Given the description of an element on the screen output the (x, y) to click on. 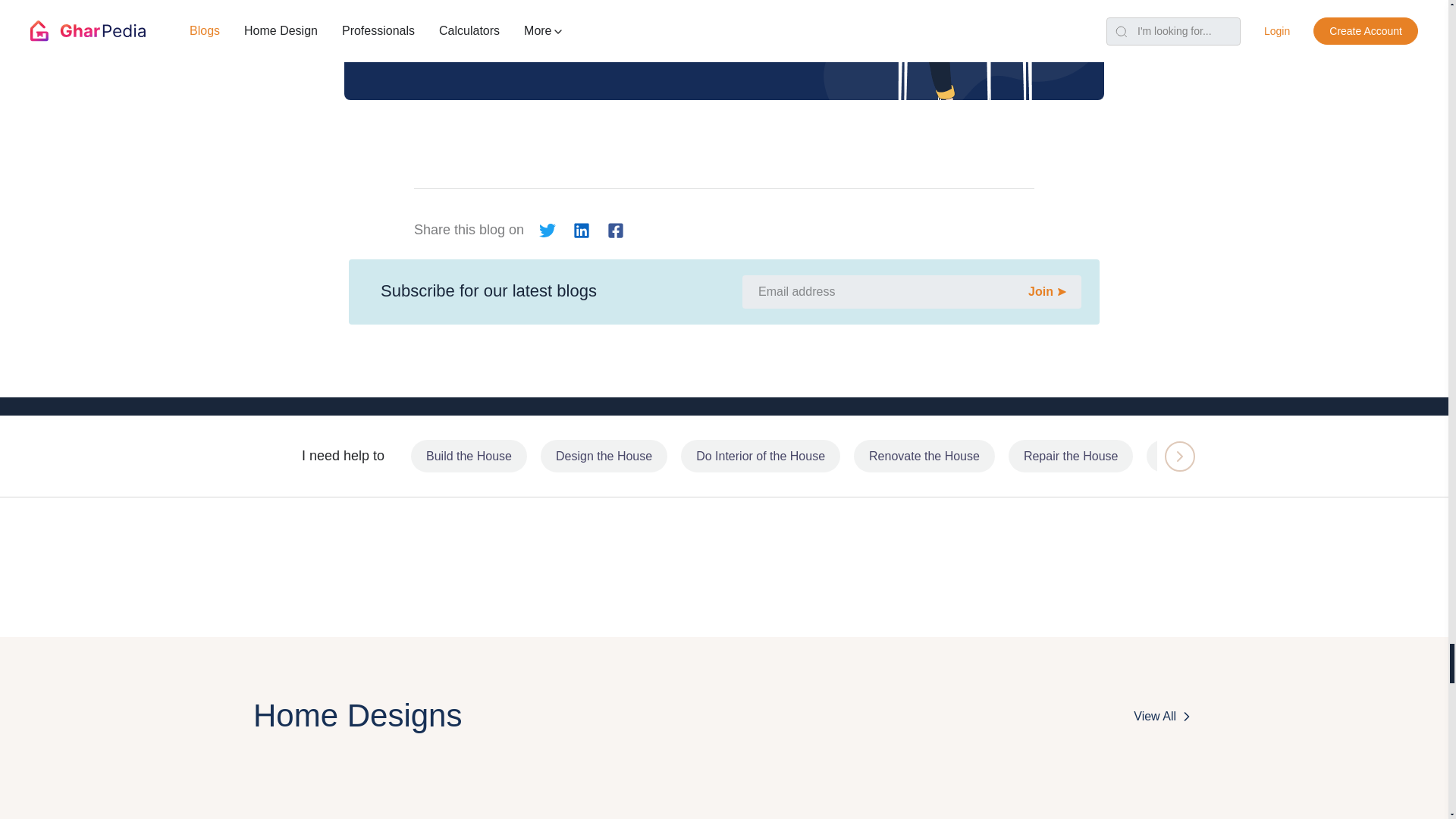
Facebook (615, 229)
